Given the description of an element on the screen output the (x, y) to click on. 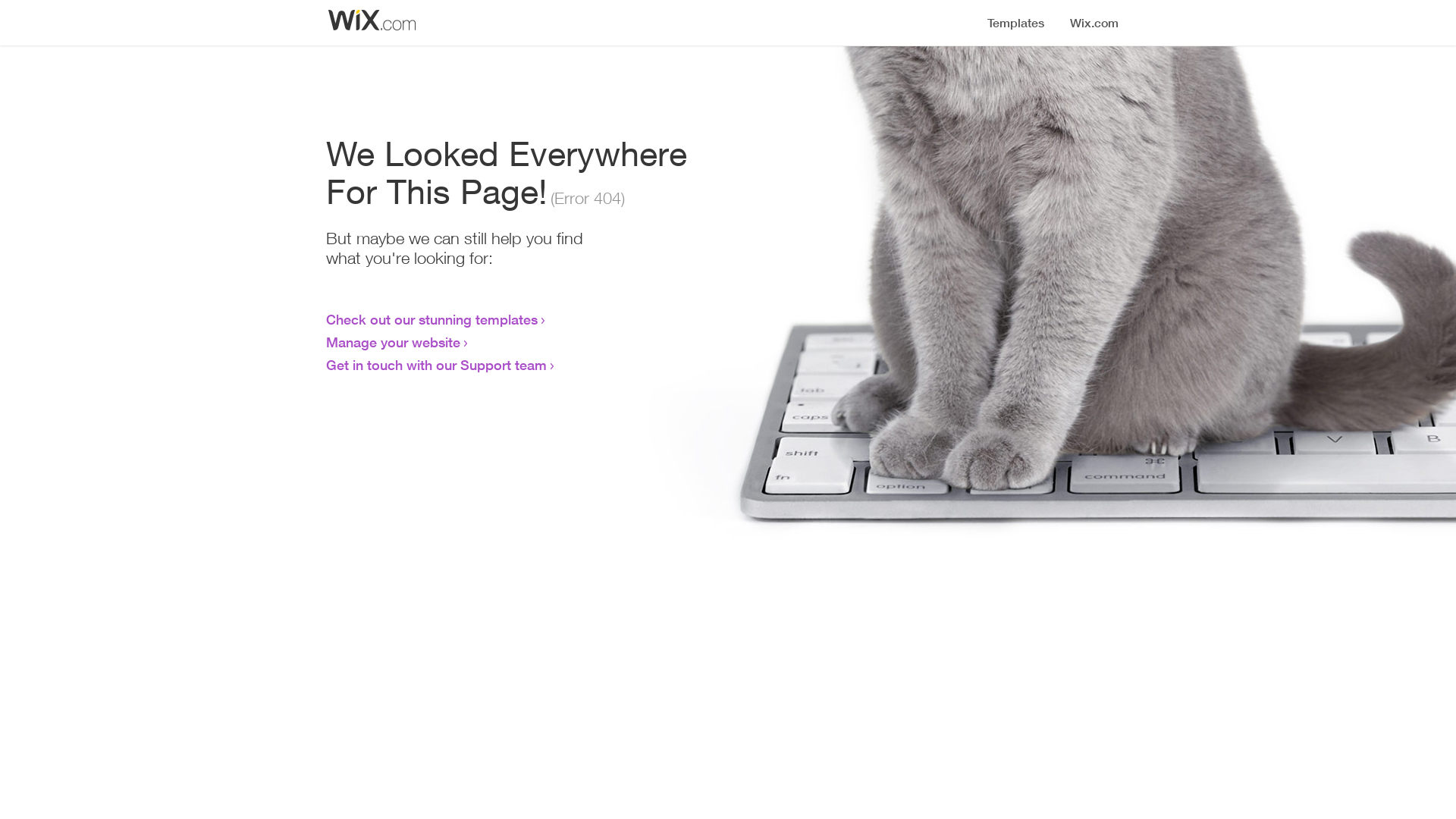
Check out our stunning templates Element type: text (431, 318)
Get in touch with our Support team Element type: text (436, 364)
Manage your website Element type: text (393, 341)
